Given the description of an element on the screen output the (x, y) to click on. 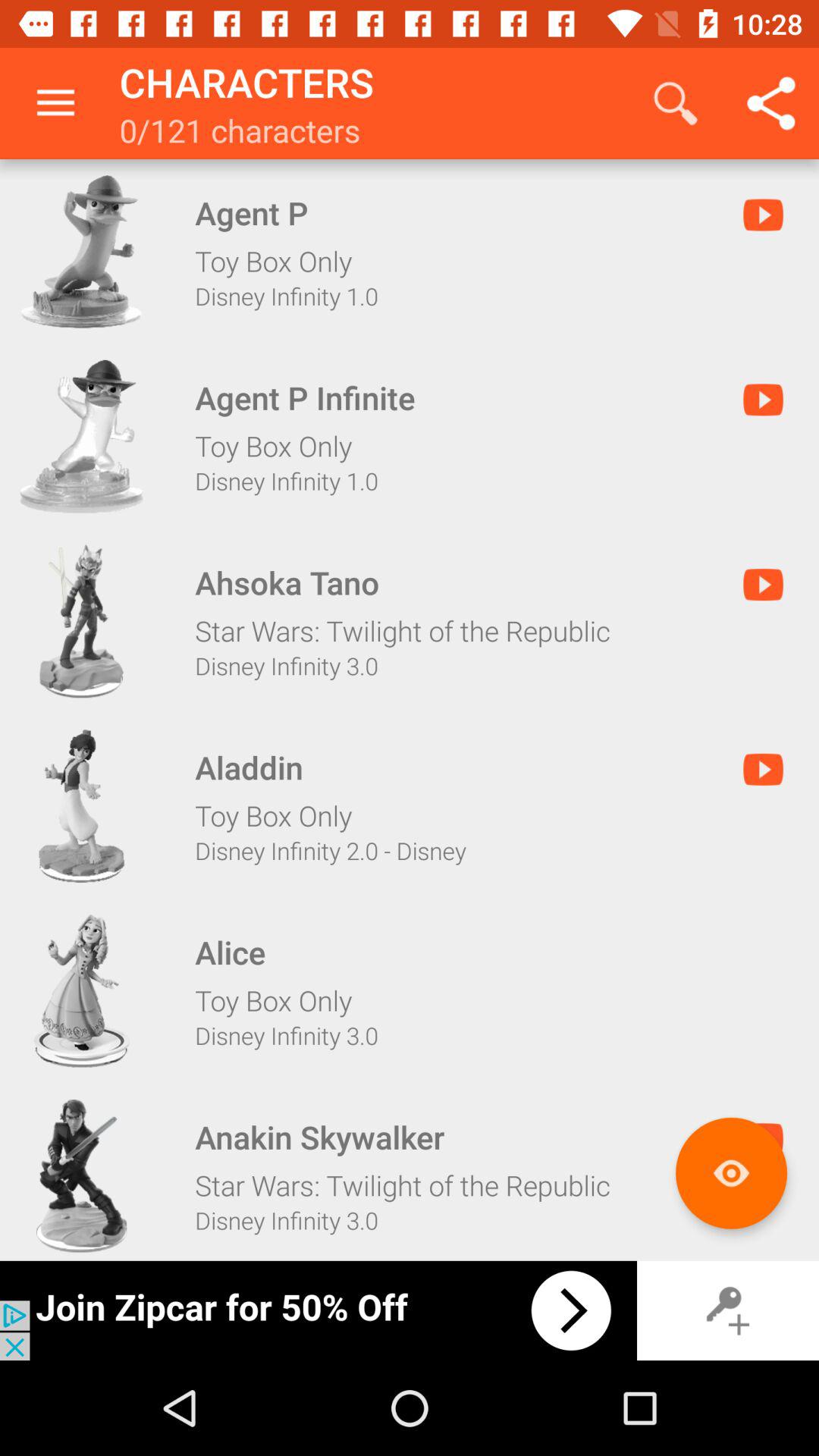
click advertisements (318, 1310)
